Given the description of an element on the screen output the (x, y) to click on. 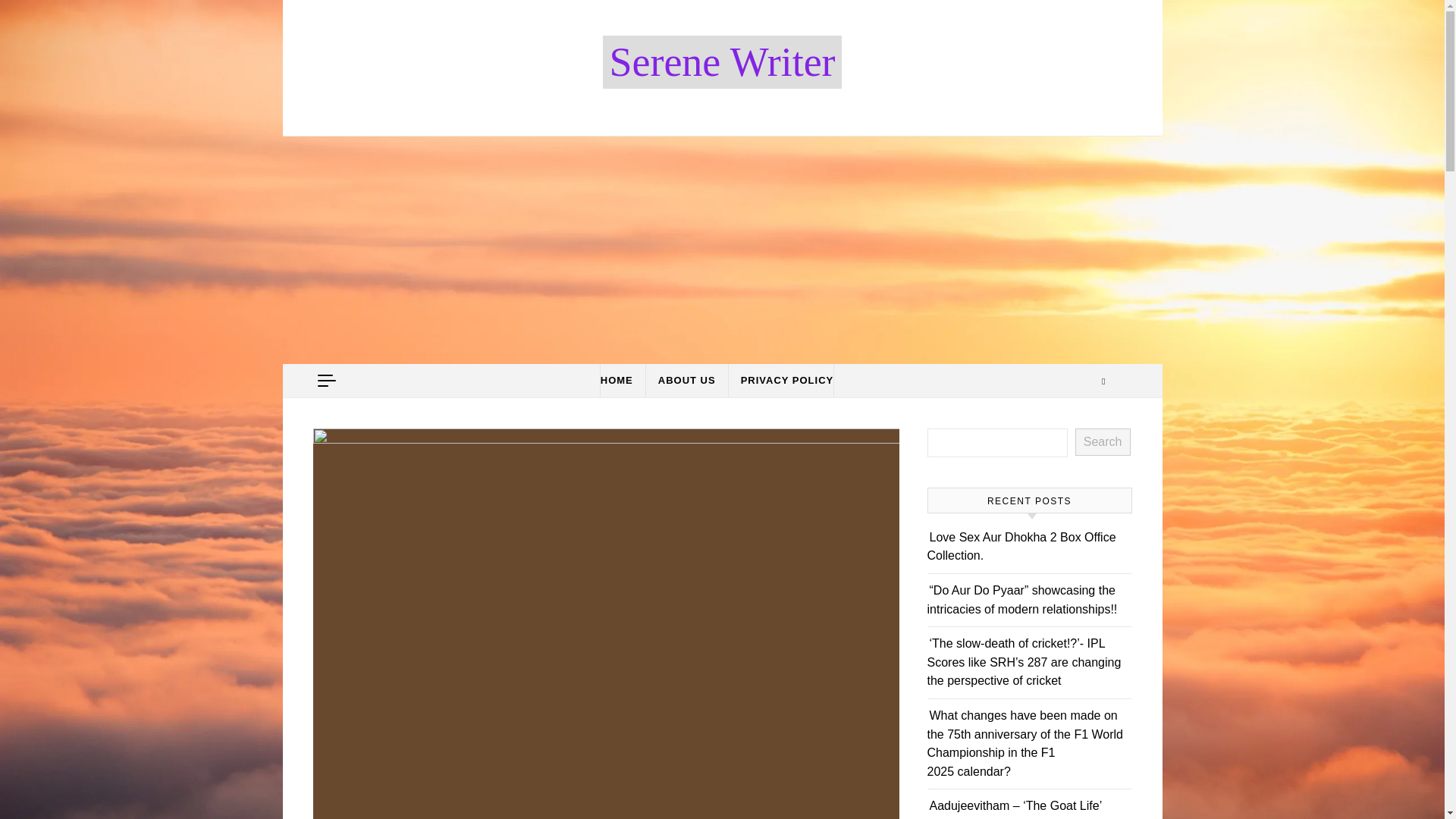
Serene Writer (721, 61)
HOME (622, 380)
ABOUT US (686, 380)
Search (1103, 441)
PRIVACY POLICY (781, 380)
Love Sex Aur Dhokha 2 Box Office Collection. (1020, 546)
